Given the description of an element on the screen output the (x, y) to click on. 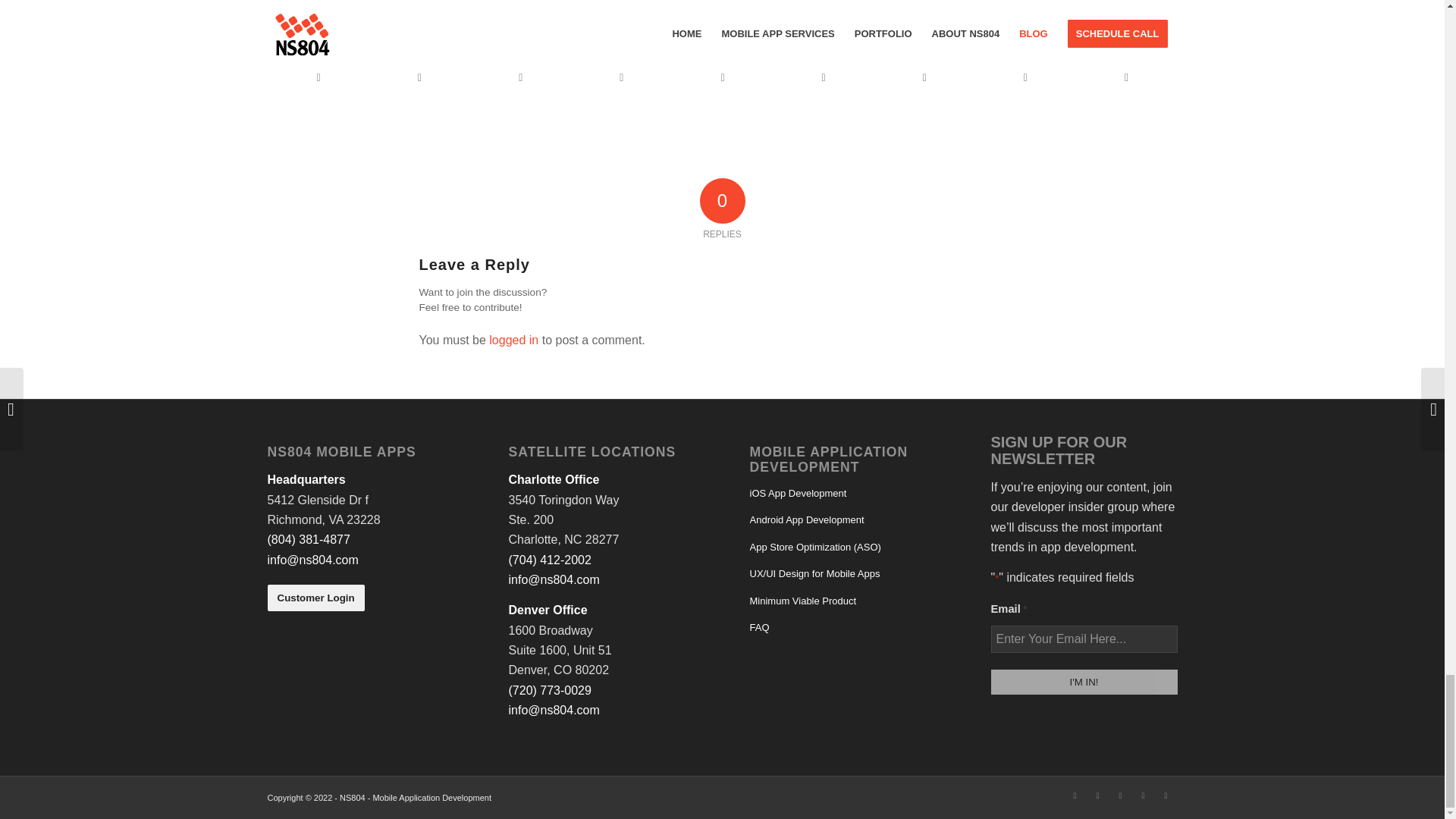
LinkedIn (1074, 794)
I'M IN! (1083, 681)
Facebook (1097, 794)
Instagram (1119, 794)
